Given the description of an element on the screen output the (x, y) to click on. 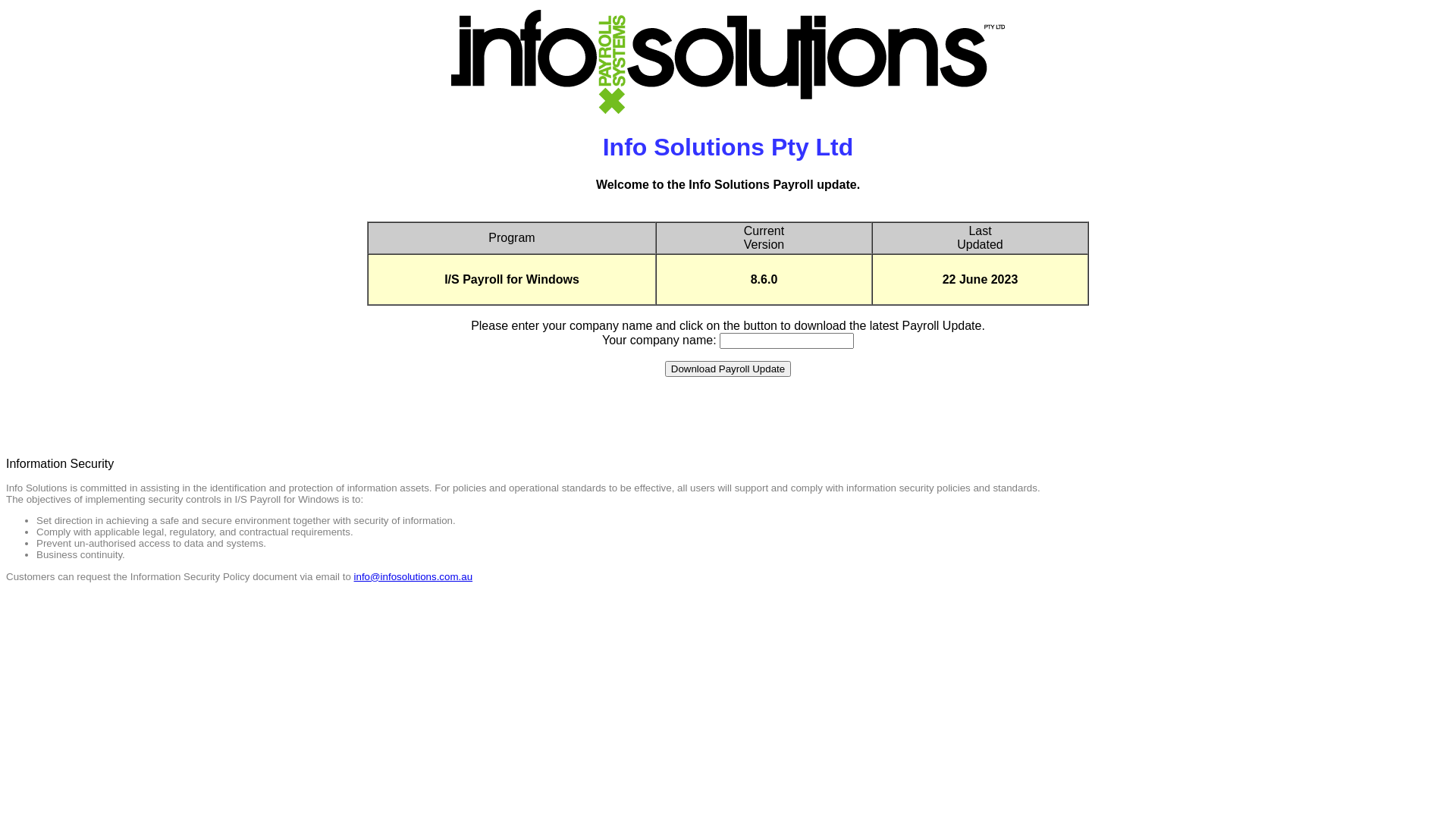
info@infosolutions.com.au Element type: text (413, 576)
Download Payroll Update Element type: text (727, 368)
